Given the description of an element on the screen output the (x, y) to click on. 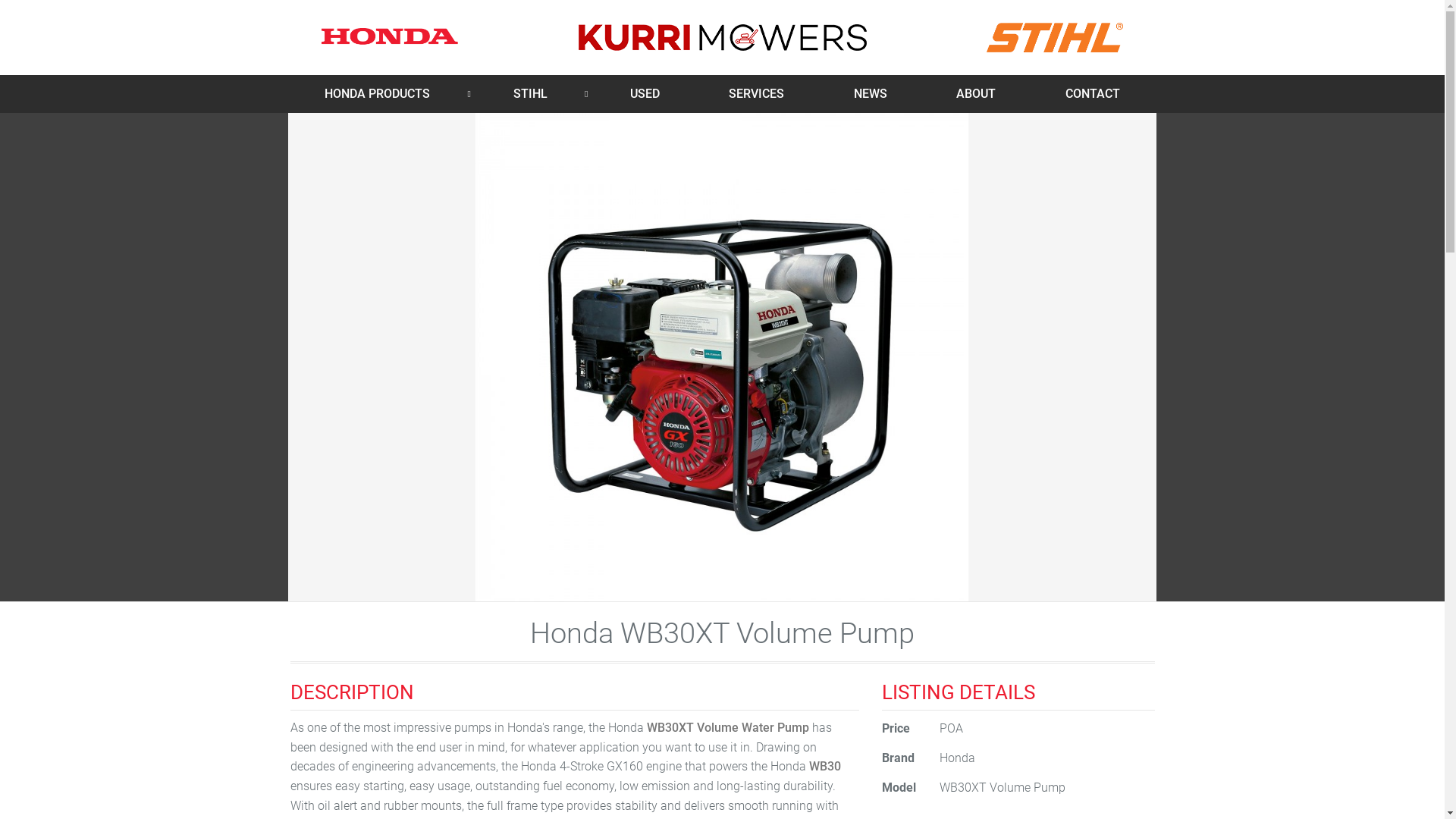
ABOUT Element type: text (975, 93)
SERVICES Element type: text (756, 93)
USED Element type: text (644, 93)
NEWS Element type: text (870, 93)
STIHL Element type: text (529, 93)
HONDA PRODUCTS Element type: text (376, 93)
CONTACT Element type: text (1092, 93)
